Given the description of an element on the screen output the (x, y) to click on. 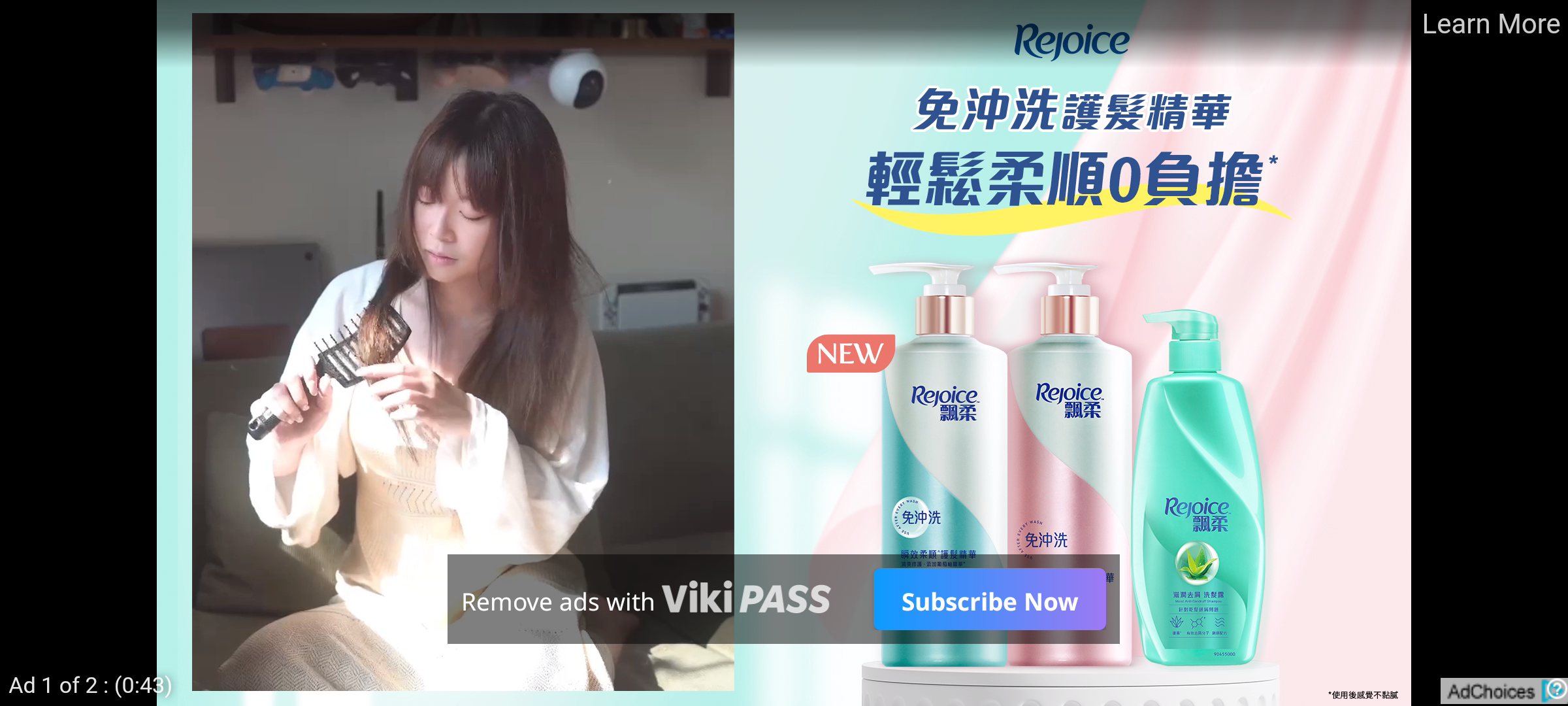
Learn More (1490, 24)
Subscribe Now (989, 599)
Ad 1 of 2 : (0:43) (90, 684)
help_outline_white_24dp_with_3px_trbl_padding (1553, 688)
get?name=admarker-full-tl (1504, 690)
